Given the description of an element on the screen output the (x, y) to click on. 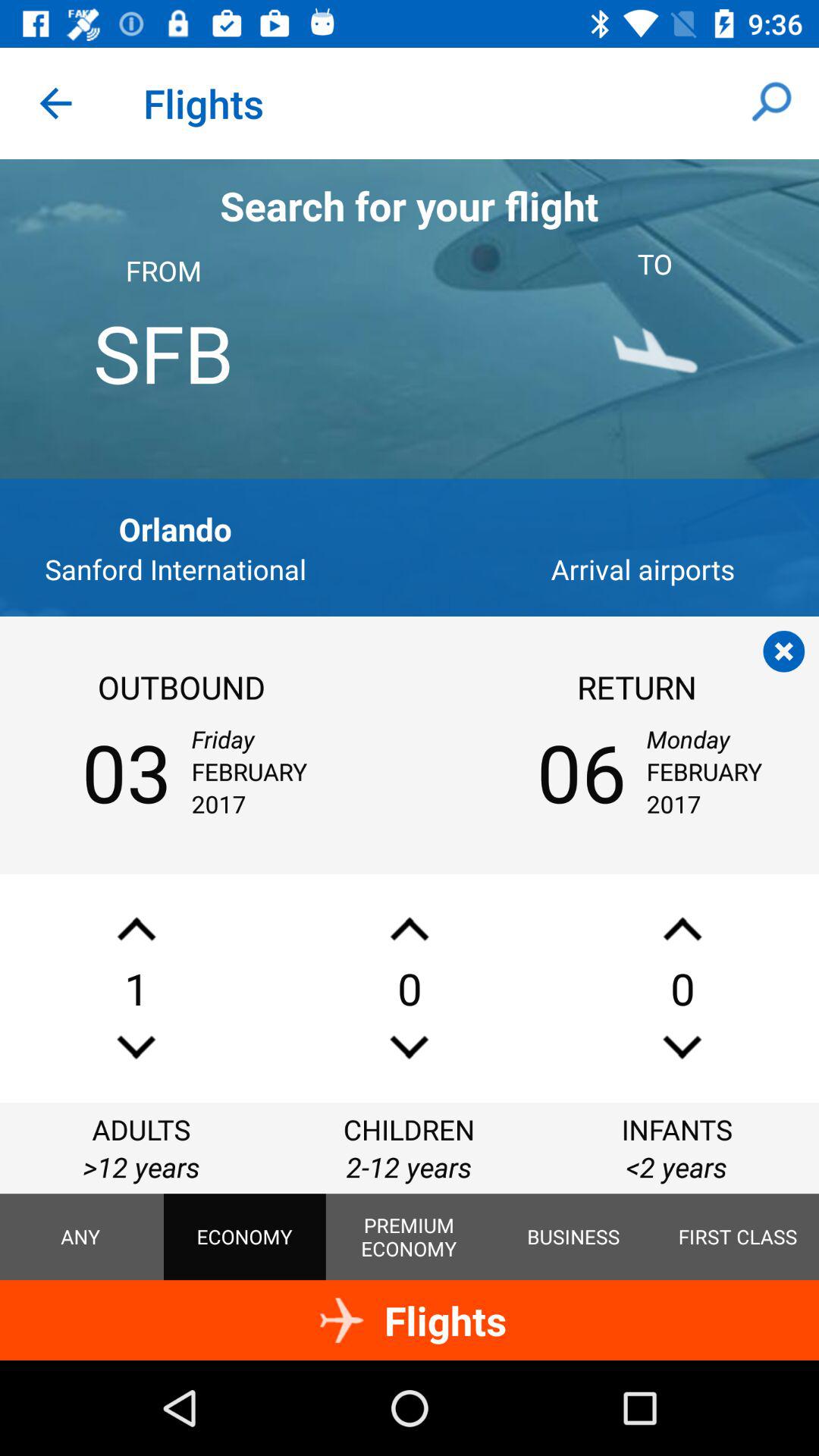
decrease the number of adults (136, 1047)
